Given the description of an element on the screen output the (x, y) to click on. 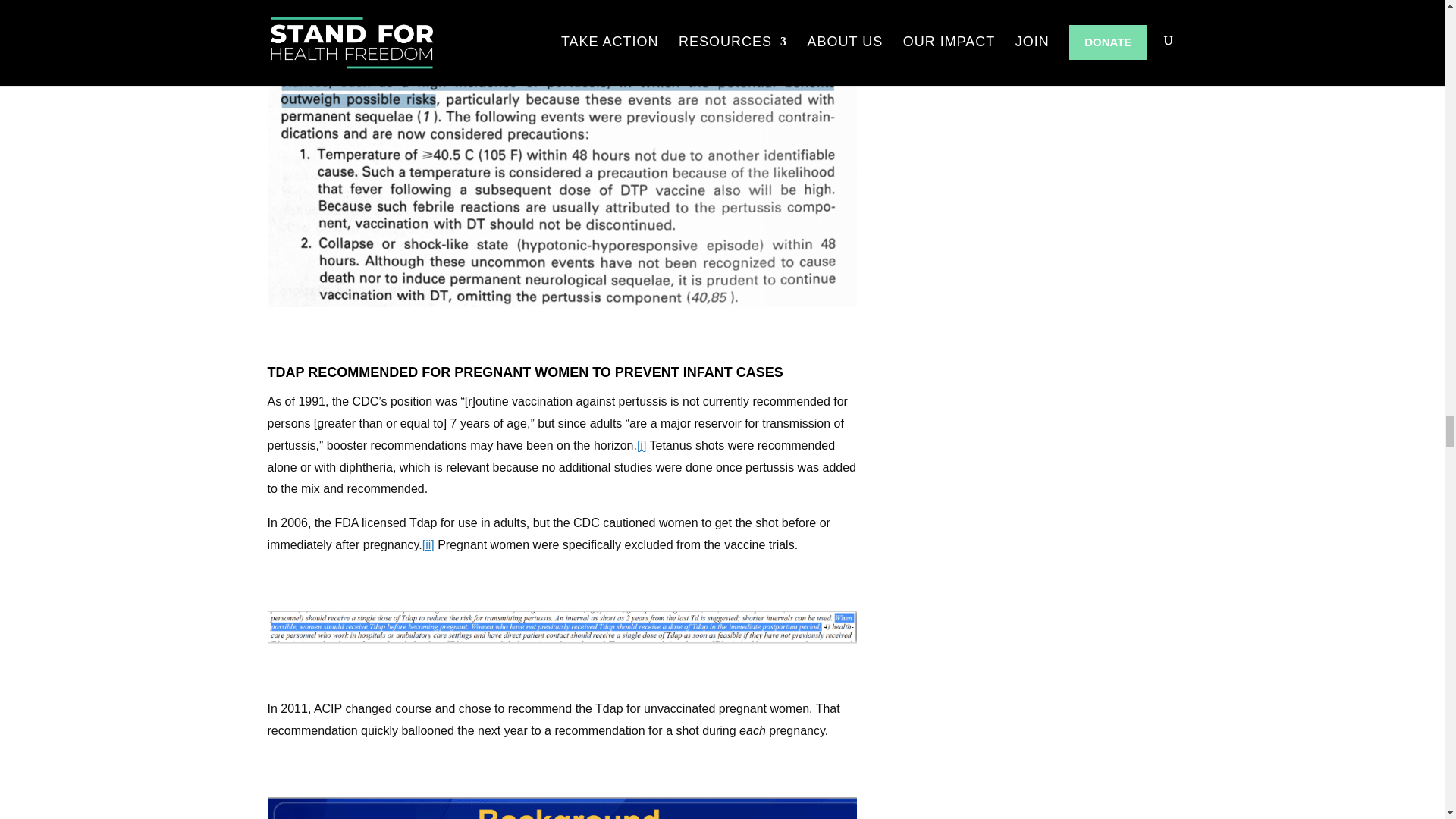
Screenshot 2023-07-19 at 10.16.32 PM (561, 627)
Screenshot 2023-07-19 at 10.17.44 PM (561, 807)
